Given the description of an element on the screen output the (x, y) to click on. 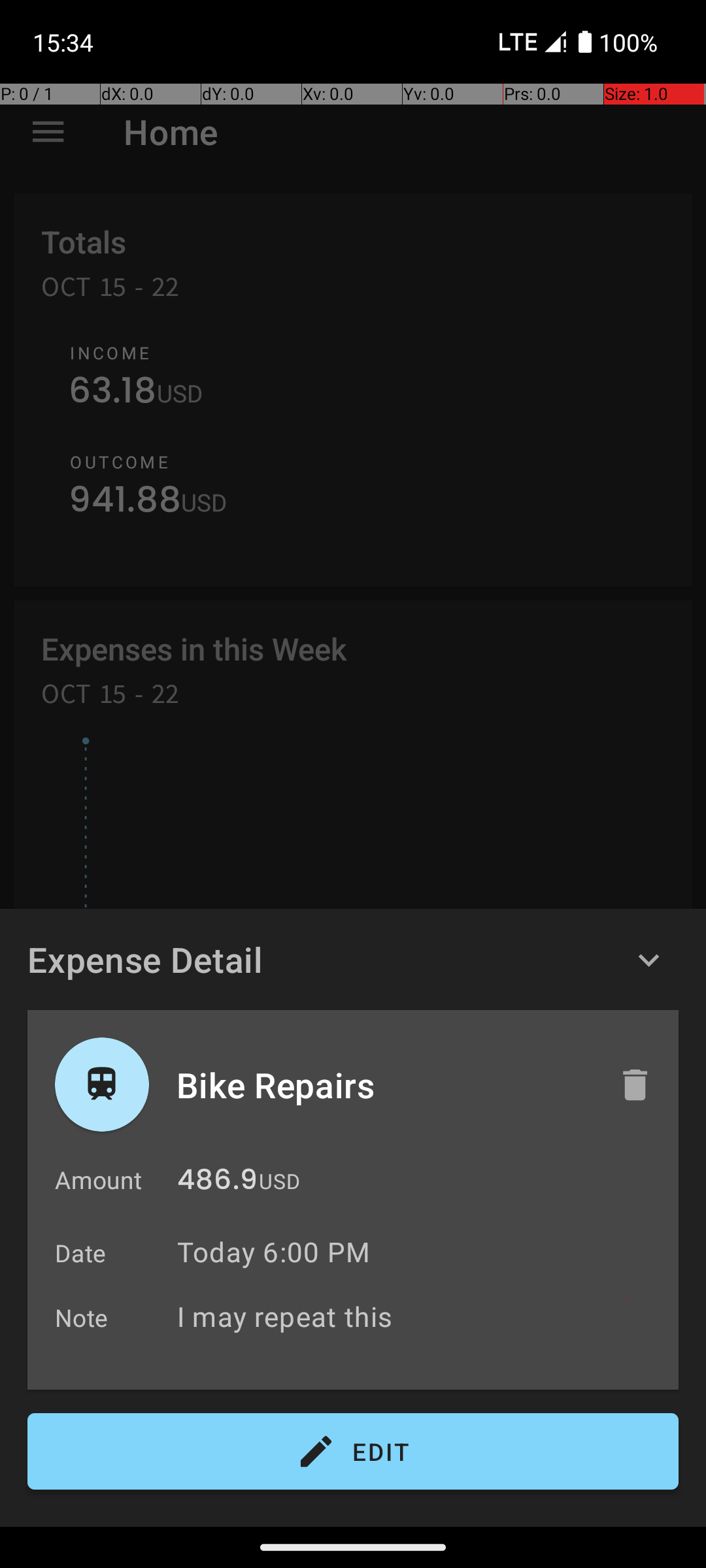
Bike Repairs Element type: android.widget.TextView (383, 1084)
486.9 Element type: android.widget.TextView (217, 1182)
Today 6:00 PM Element type: android.widget.TextView (273, 1251)
